Given the description of an element on the screen output the (x, y) to click on. 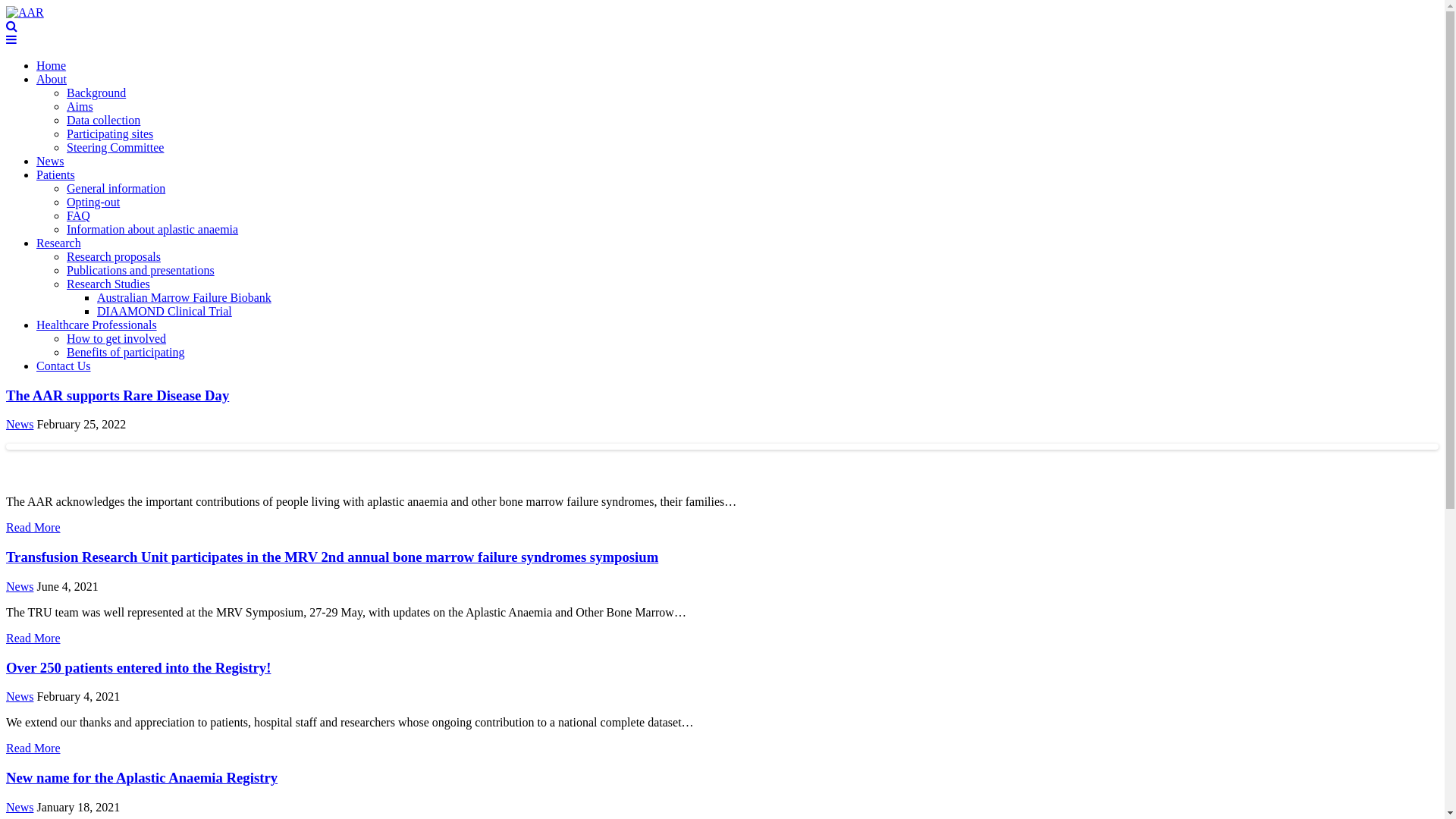
News Element type: text (19, 423)
Contact Us Element type: text (63, 365)
Steering Committee Element type: text (114, 147)
General information Element type: text (115, 188)
AAR Element type: hover (24, 12)
Background Element type: text (95, 92)
Read More Element type: text (33, 747)
Research proposals Element type: text (113, 256)
DIAAMOND Clinical Trial Element type: text (164, 310)
Home Element type: text (50, 65)
Publications and presentations Element type: text (140, 269)
About Element type: text (51, 78)
How to get involved Element type: text (116, 338)
Australian Marrow Failure Biobank Element type: text (184, 297)
Research Element type: text (58, 242)
Read More Element type: text (33, 637)
Read More Element type: text (33, 526)
News Element type: text (19, 806)
Patients Element type: text (55, 174)
Healthcare Professionals Element type: text (96, 324)
Data collection Element type: text (103, 119)
Participating sites Element type: text (109, 133)
News Element type: text (49, 160)
Over 250 patients entered into the Registry! Element type: text (138, 667)
Benefits of participating Element type: text (125, 351)
FAQ Element type: text (78, 215)
Aims Element type: text (79, 106)
News Element type: text (19, 696)
The AAR supports Rare Disease Day Element type: text (117, 395)
Research Studies Element type: text (108, 283)
New name for the Aplastic Anaemia Registry Element type: text (141, 777)
Information about aplastic anaemia Element type: text (152, 228)
Opting-out Element type: text (92, 201)
News Element type: text (19, 586)
